Given the description of an element on the screen output the (x, y) to click on. 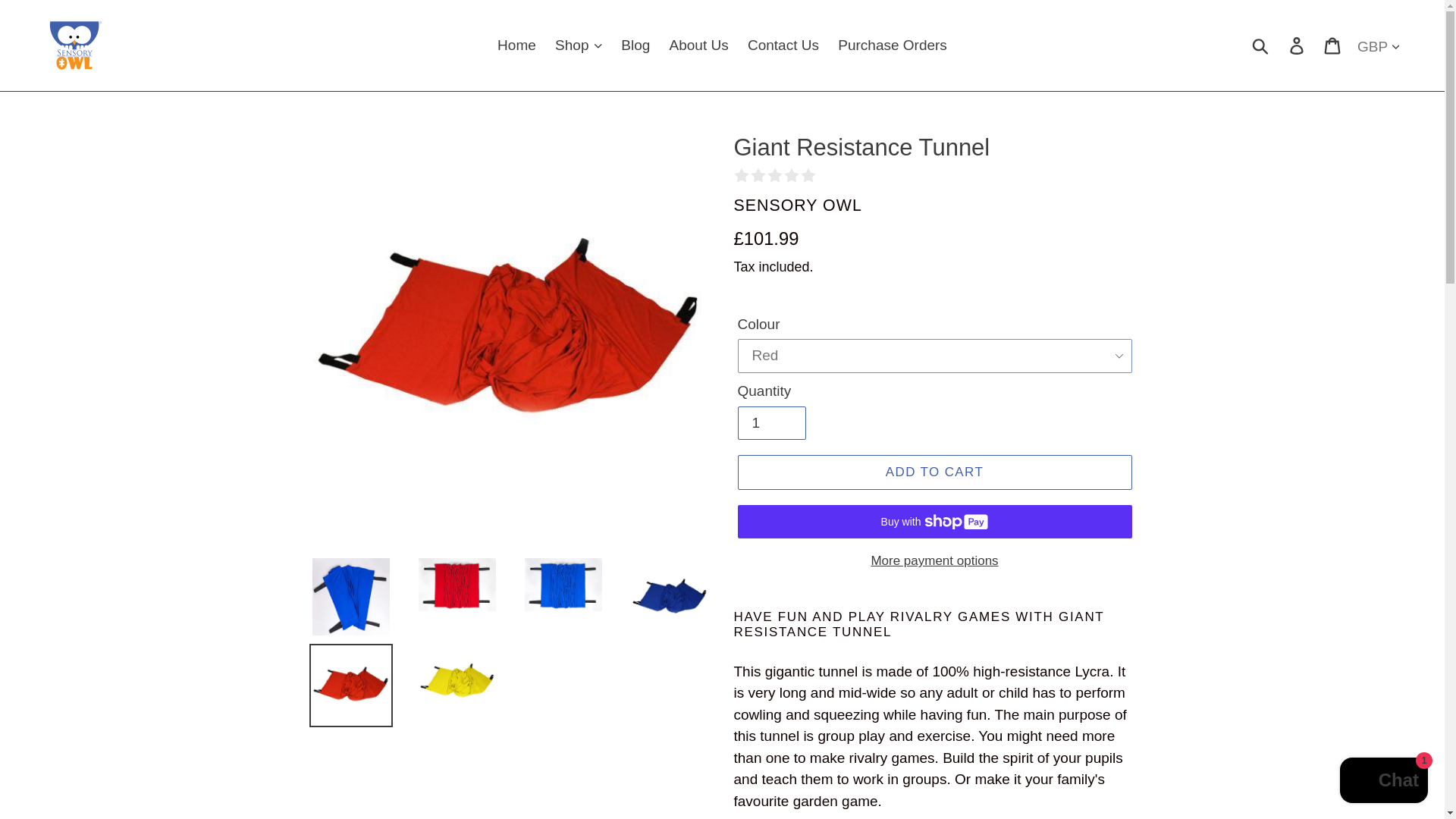
About Us (699, 45)
Cart (1333, 45)
Purchase Orders (892, 45)
Contact Us (783, 45)
Shopify online store chat (1383, 781)
Log in (1297, 45)
Submit (1261, 45)
Home (516, 45)
Blog (635, 45)
1 (770, 423)
